Given the description of an element on the screen output the (x, y) to click on. 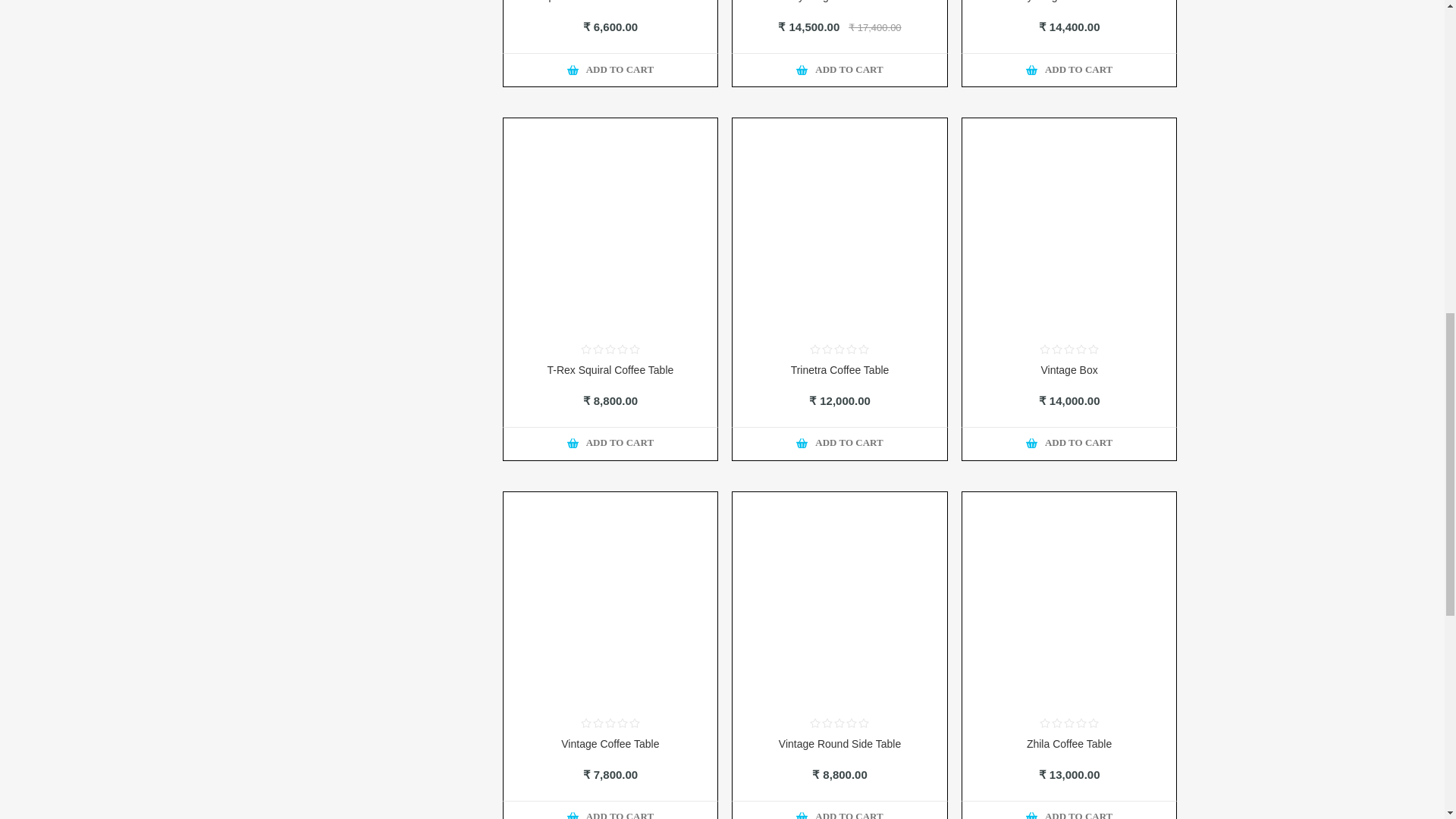
Add to wishlist (627, 437)
Add to compare list (592, 437)
Add to wishlist (1086, 437)
Add to compare list (1051, 437)
Add to compare list (1051, 64)
Add to wishlist (856, 437)
Add to compare list (821, 64)
Add to wishlist (627, 64)
Add to compare list (821, 437)
Add to compare list (592, 64)
Add to wishlist (1086, 64)
Add to wishlist (856, 64)
